Given the description of an element on the screen output the (x, y) to click on. 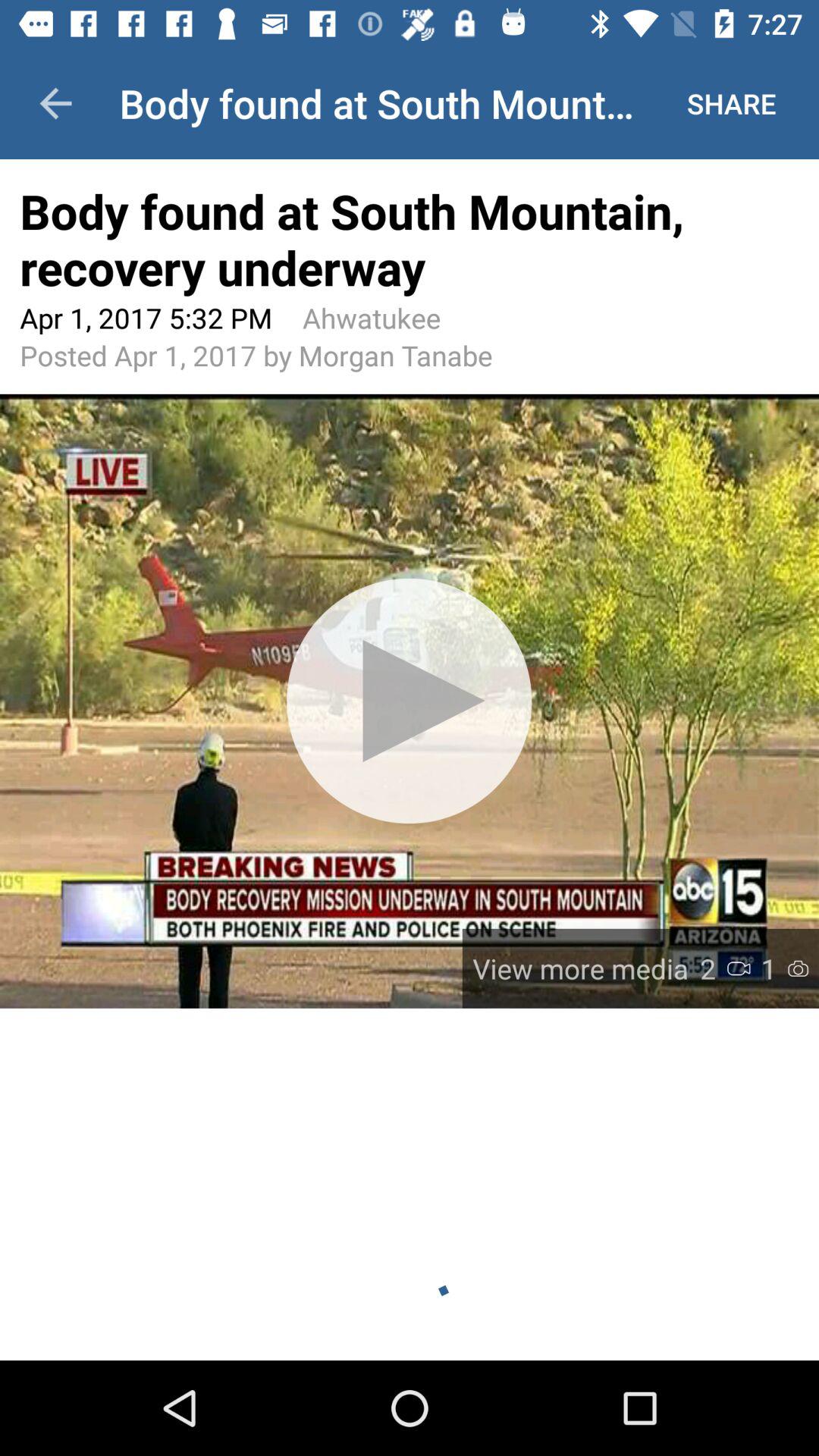
choose the item below posted apr 1 icon (409, 701)
